Given the description of an element on the screen output the (x, y) to click on. 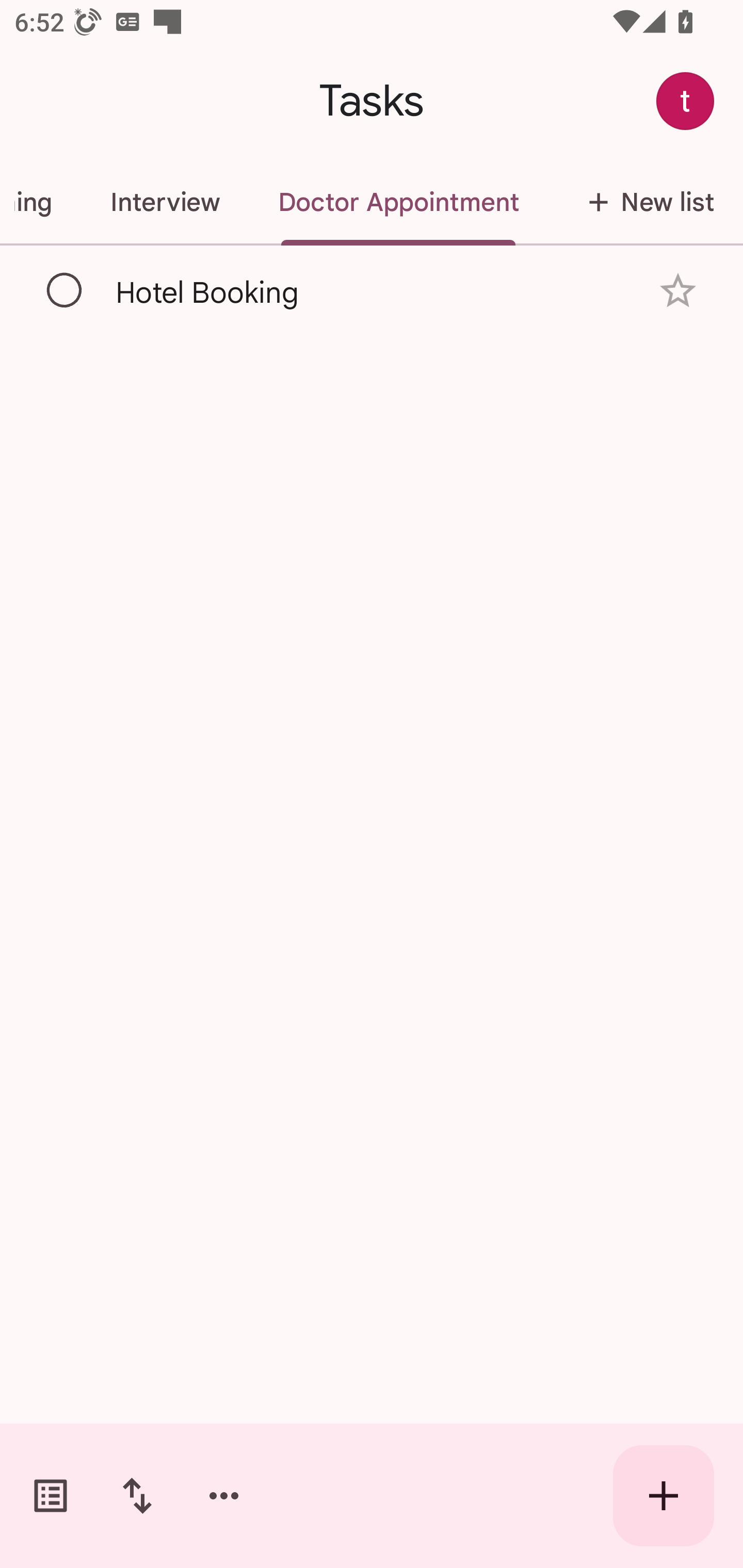
Interview (164, 202)
New list (645, 202)
Add star (677, 290)
Mark as complete (64, 290)
Switch task lists (50, 1495)
Create new task (663, 1495)
Change sort order (136, 1495)
More options (223, 1495)
